Given the description of an element on the screen output the (x, y) to click on. 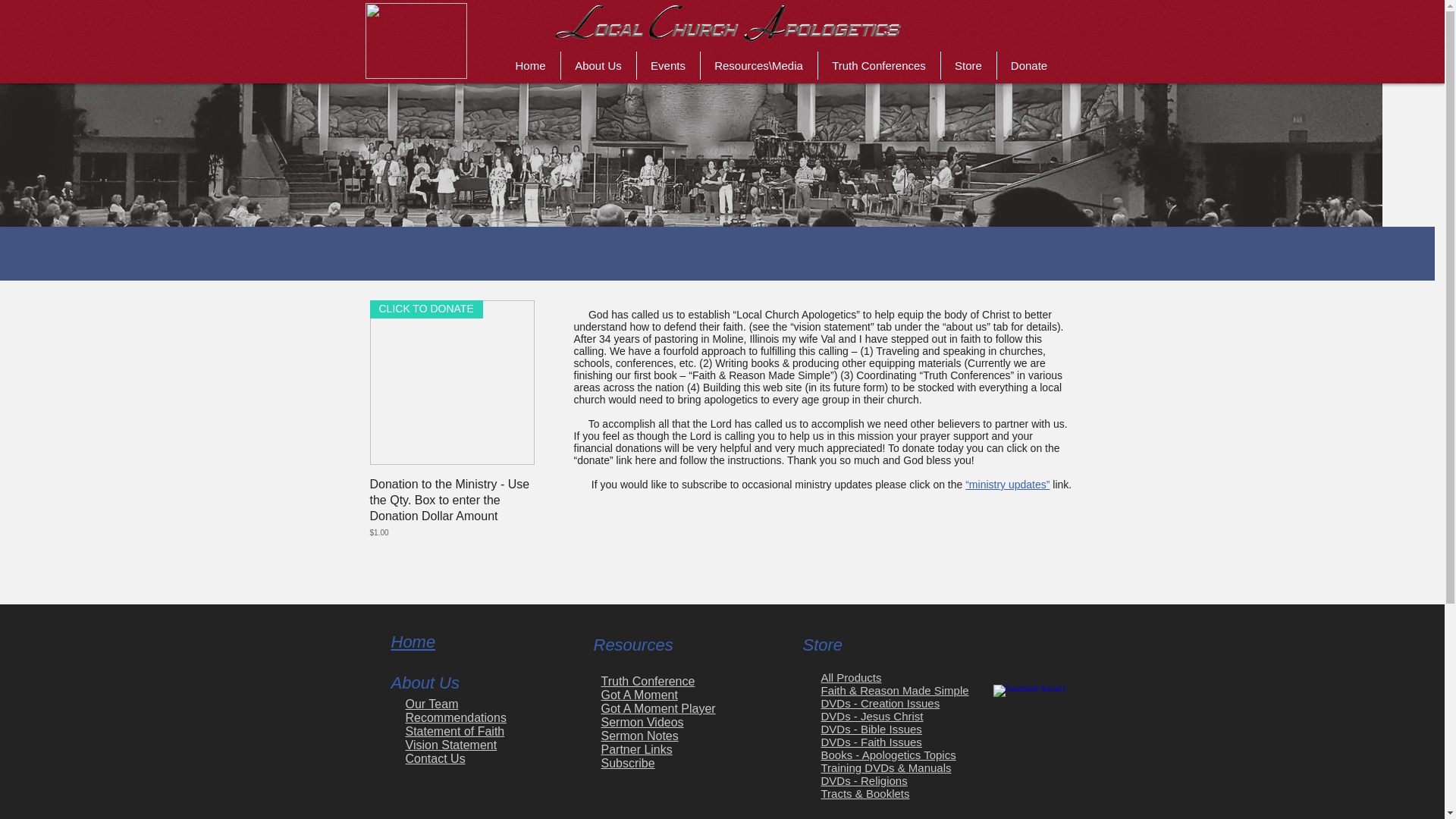
Home (529, 65)
lca logo 2.png (721, 23)
Store (967, 65)
Events (668, 65)
Truth Conferences (877, 65)
About Us (598, 65)
